Given the description of an element on the screen output the (x, y) to click on. 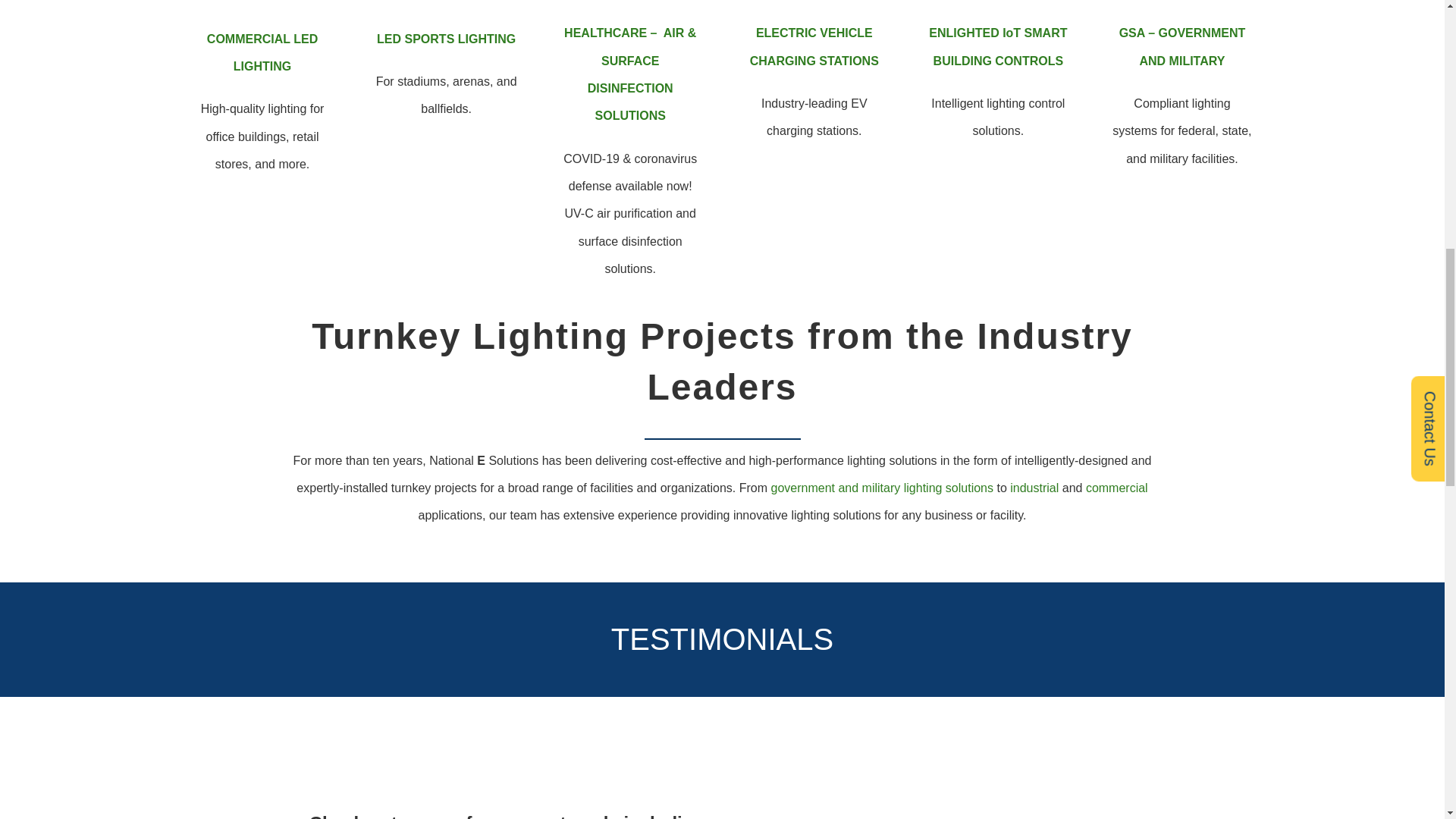
stadium (445, 3)
ENLIGHTED IoT SMART BUILDING CONTROLS (997, 46)
LED SPORTS LIGHTING (446, 38)
COMMERCIAL LED LIGHTING (261, 52)
forklift-with-boxes (262, 3)
YouTube video player (967, 786)
ELECTRIC VEHICLE CHARGING STATIONS (814, 46)
